Given the description of an element on the screen output the (x, y) to click on. 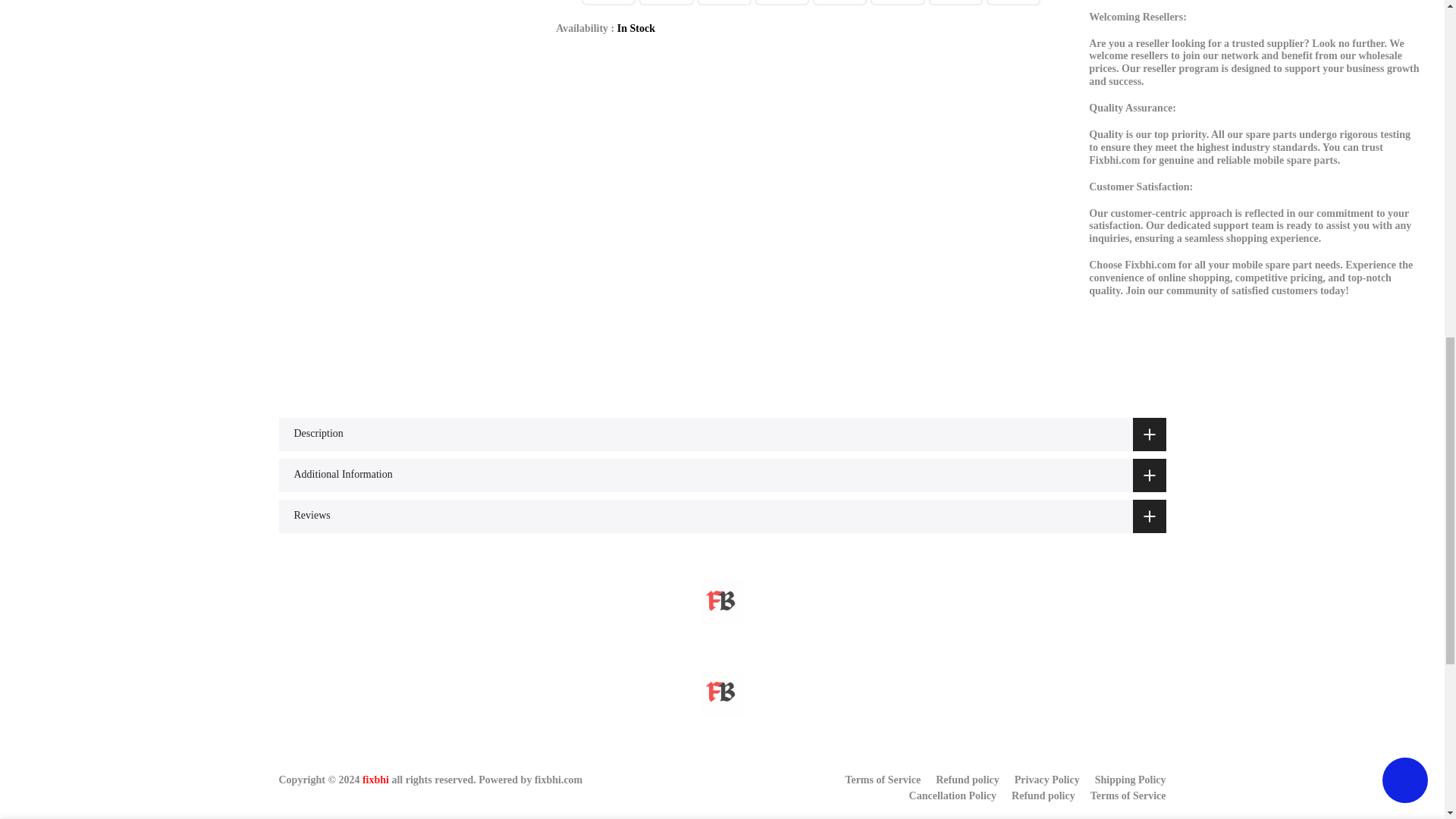
Additional Information (722, 475)
Reviews (722, 516)
1 (1001, 35)
Description (722, 434)
